Given the description of an element on the screen output the (x, y) to click on. 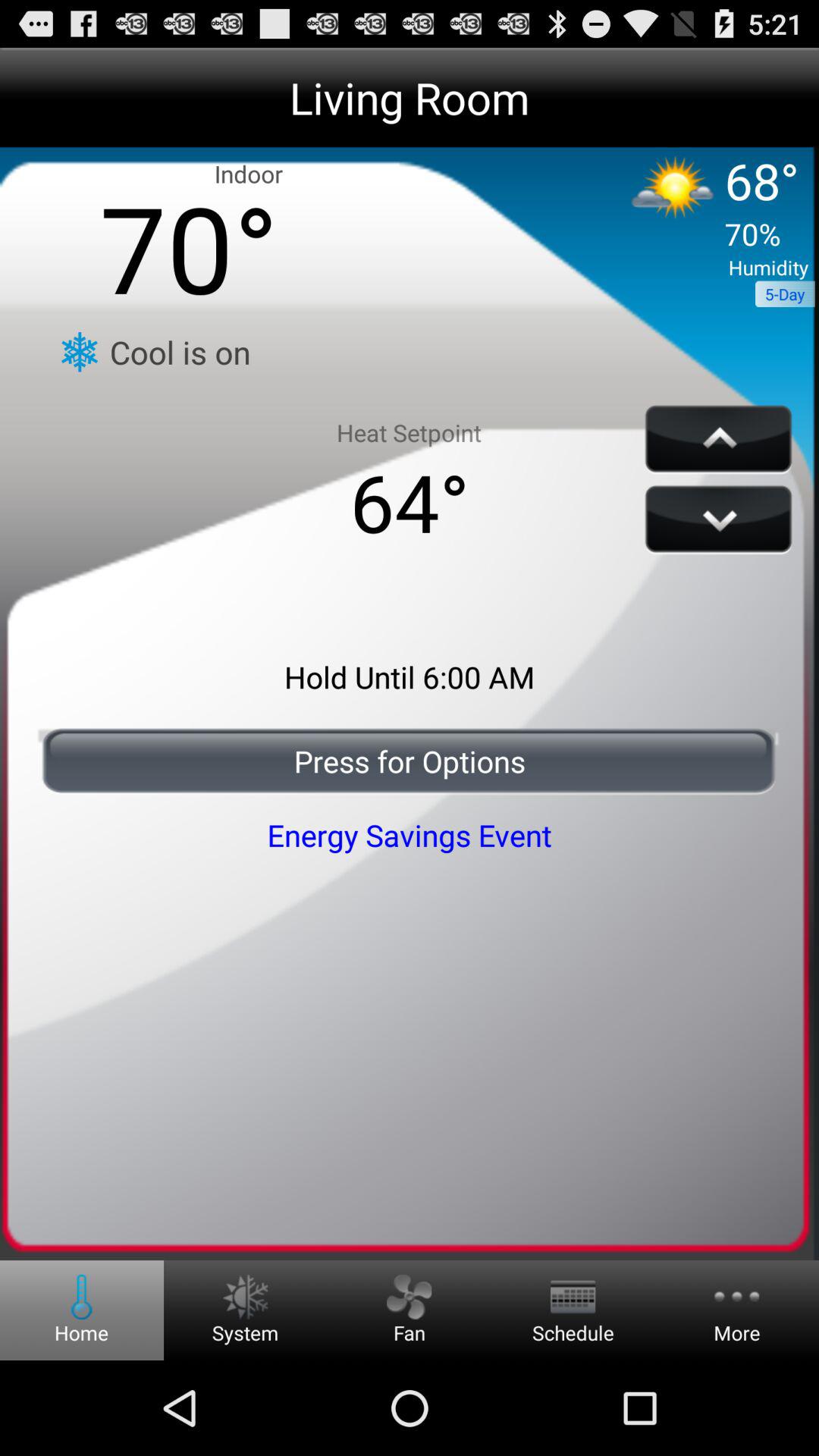
scroll until energy savings event icon (409, 835)
